Given the description of an element on the screen output the (x, y) to click on. 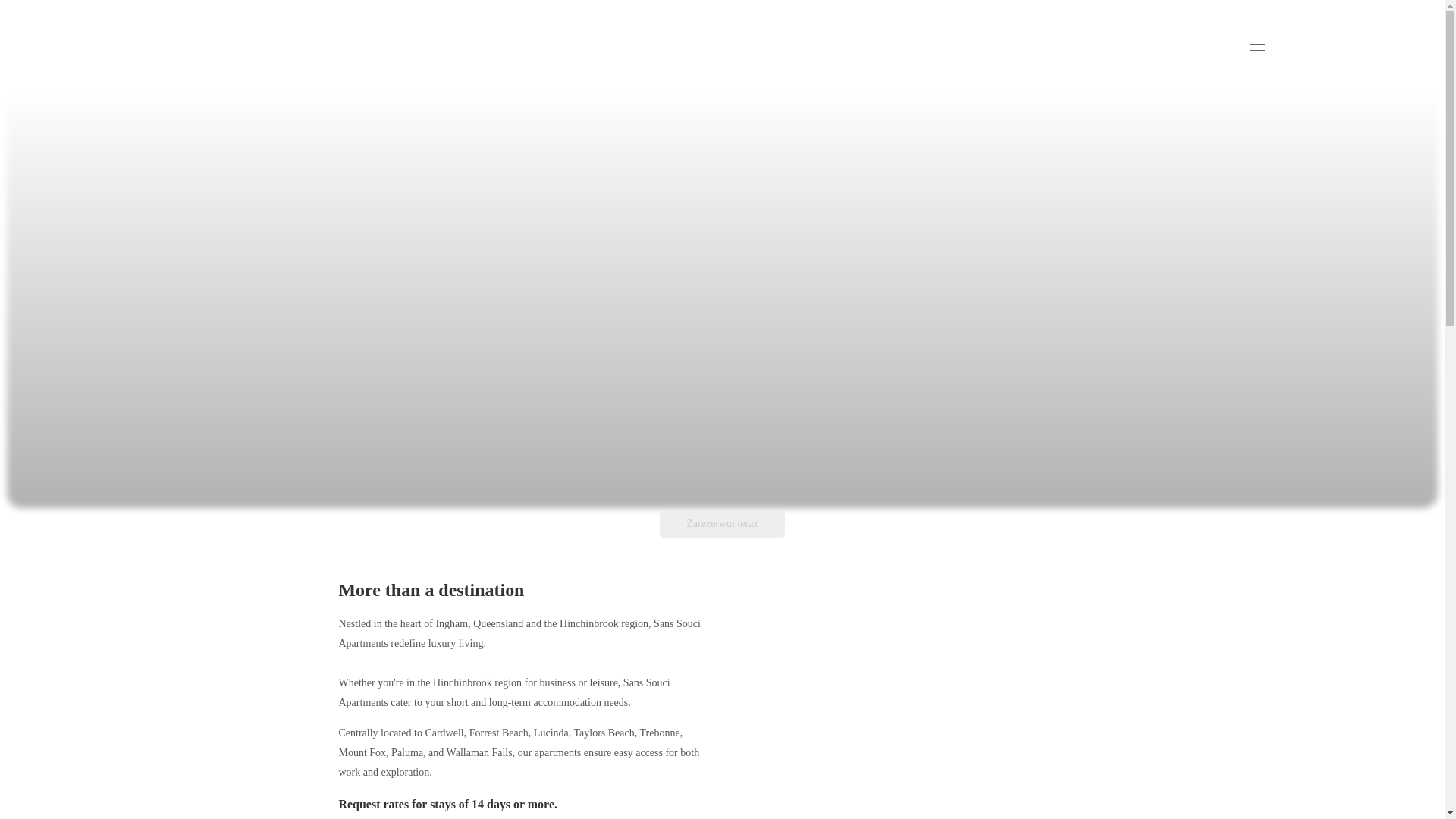
Zarezerwuj teraz (721, 524)
